Given the description of an element on the screen output the (x, y) to click on. 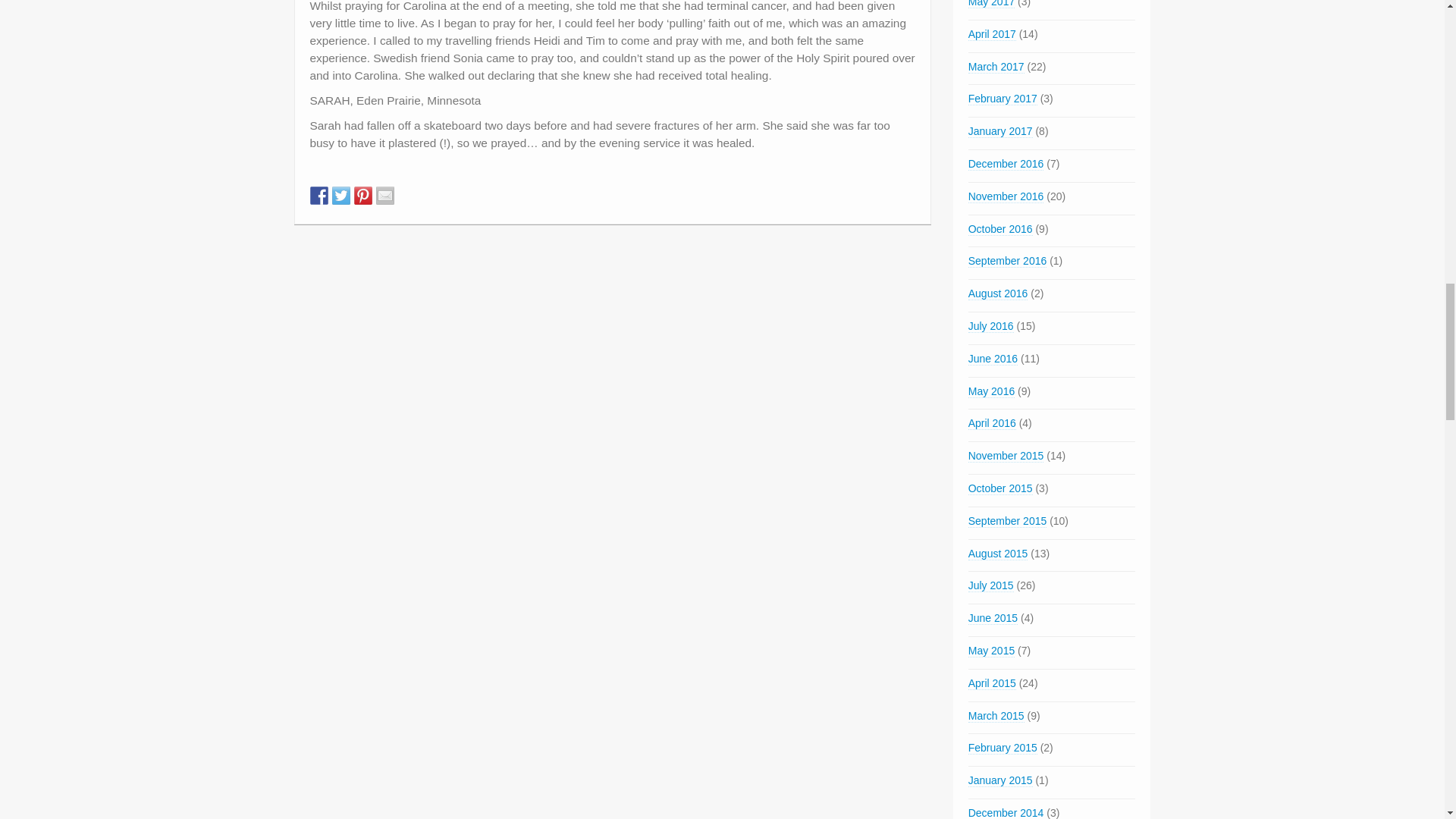
Share on Twitter (340, 195)
Share by email (384, 195)
Share on Facebook (317, 195)
Pin it with Pinterest (362, 195)
